Given the description of an element on the screen output the (x, y) to click on. 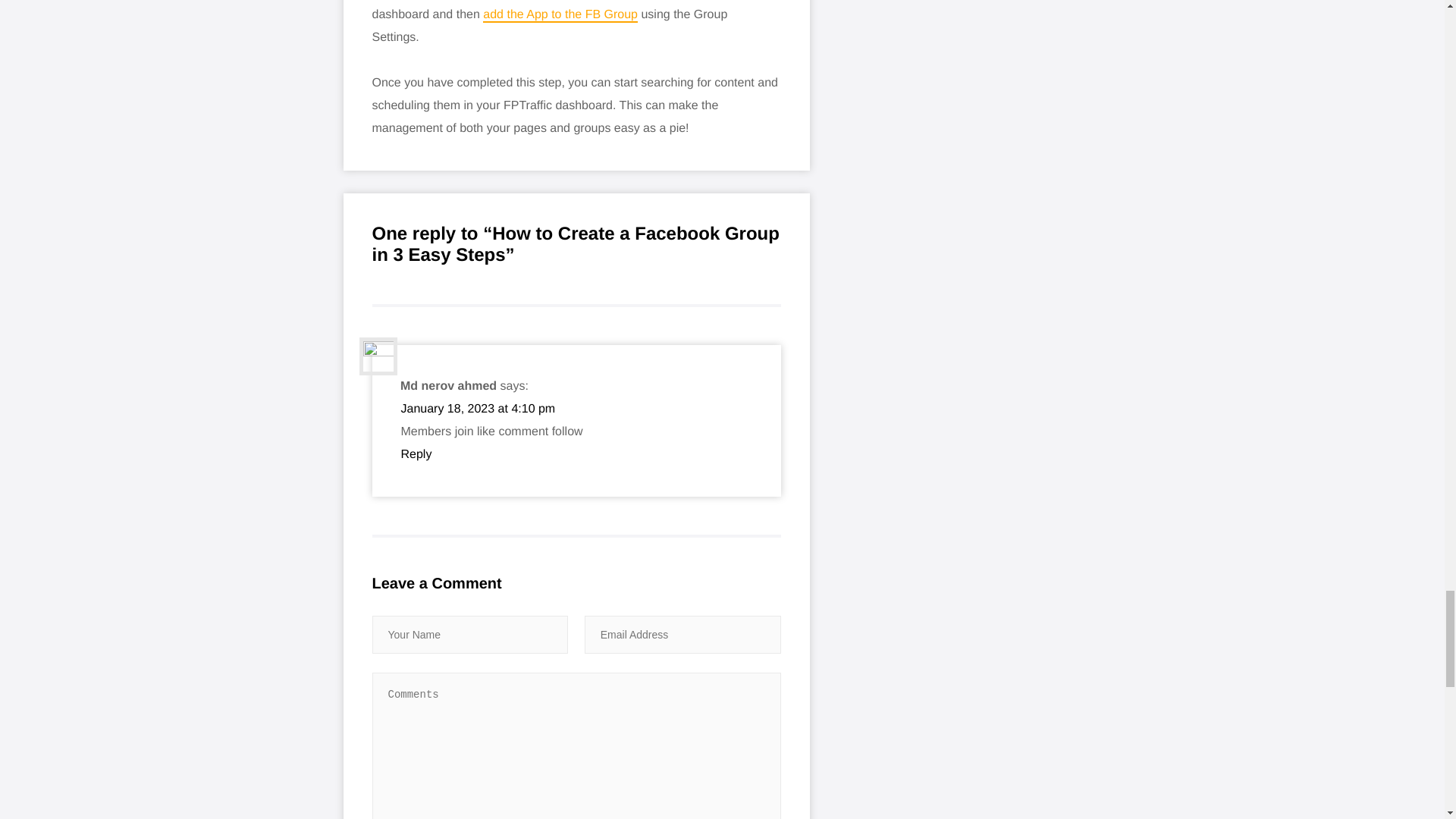
add the App to the FB Group (560, 15)
January 18, 2023 at 4:10 pm (477, 408)
Reply (415, 454)
